Given the description of an element on the screen output the (x, y) to click on. 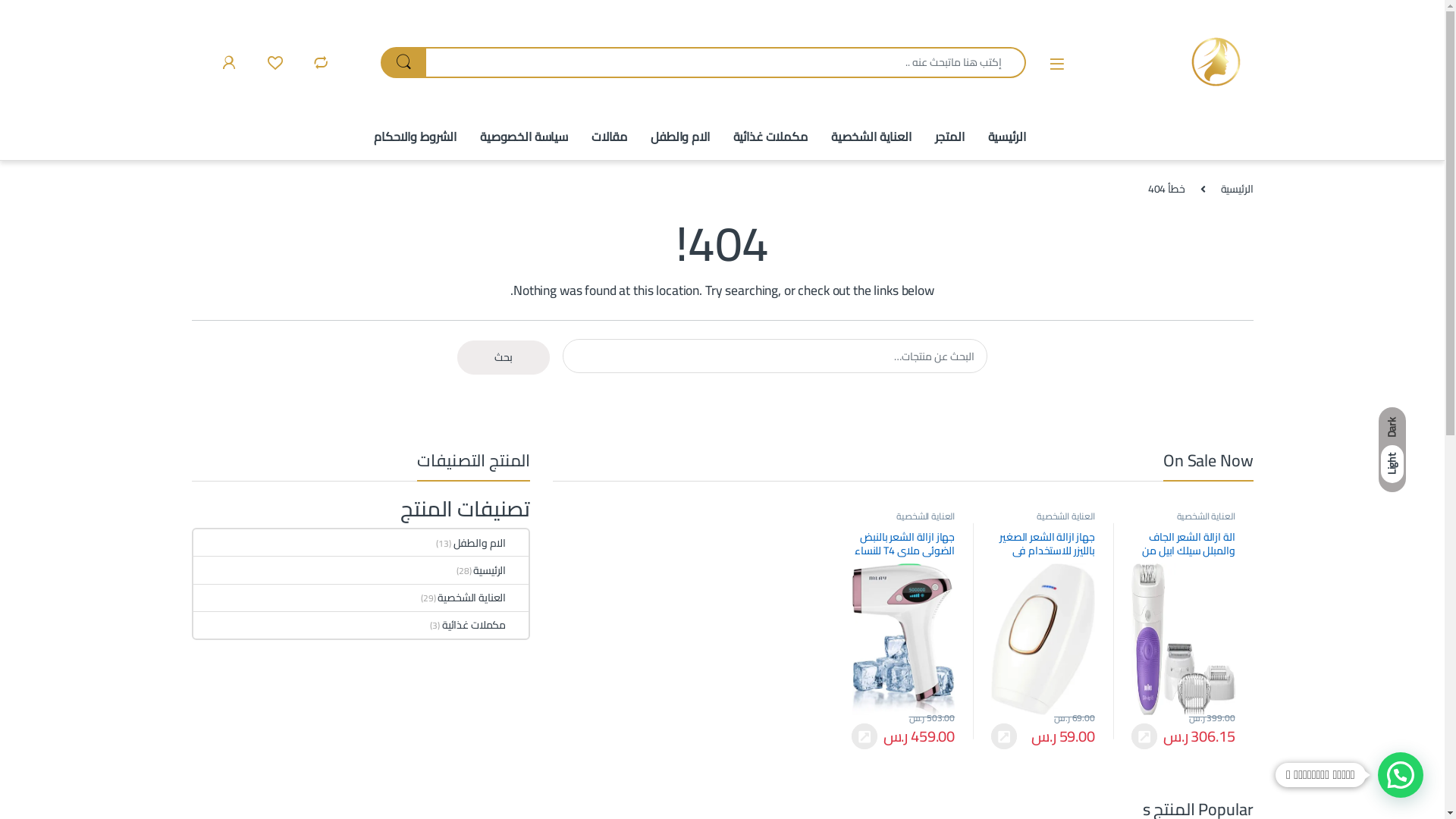
Dark Element type: text (1391, 427)
Light Element type: text (1391, 463)
